Given the description of an element on the screen output the (x, y) to click on. 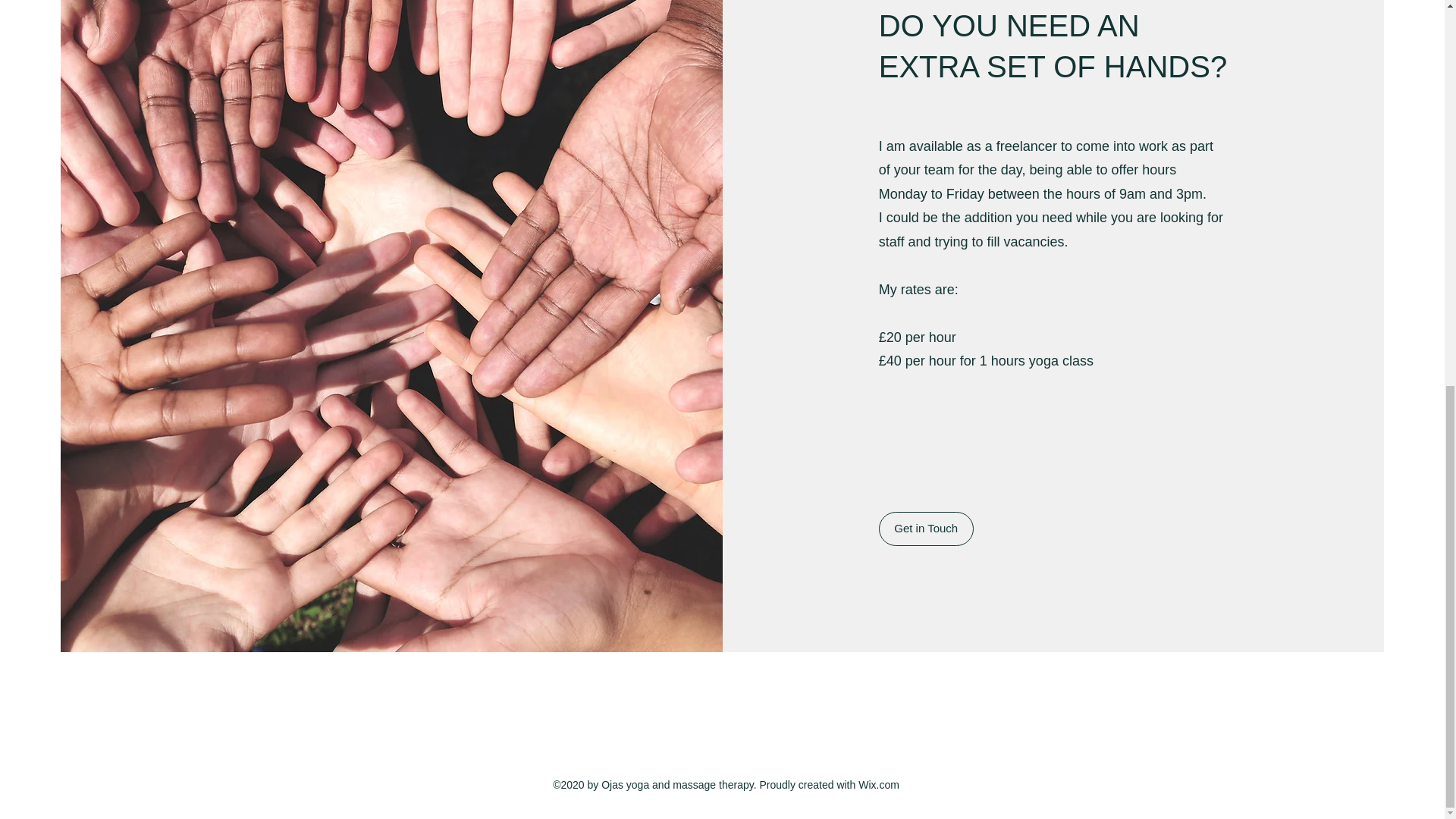
Get in Touch (926, 528)
